Given the description of an element on the screen output the (x, y) to click on. 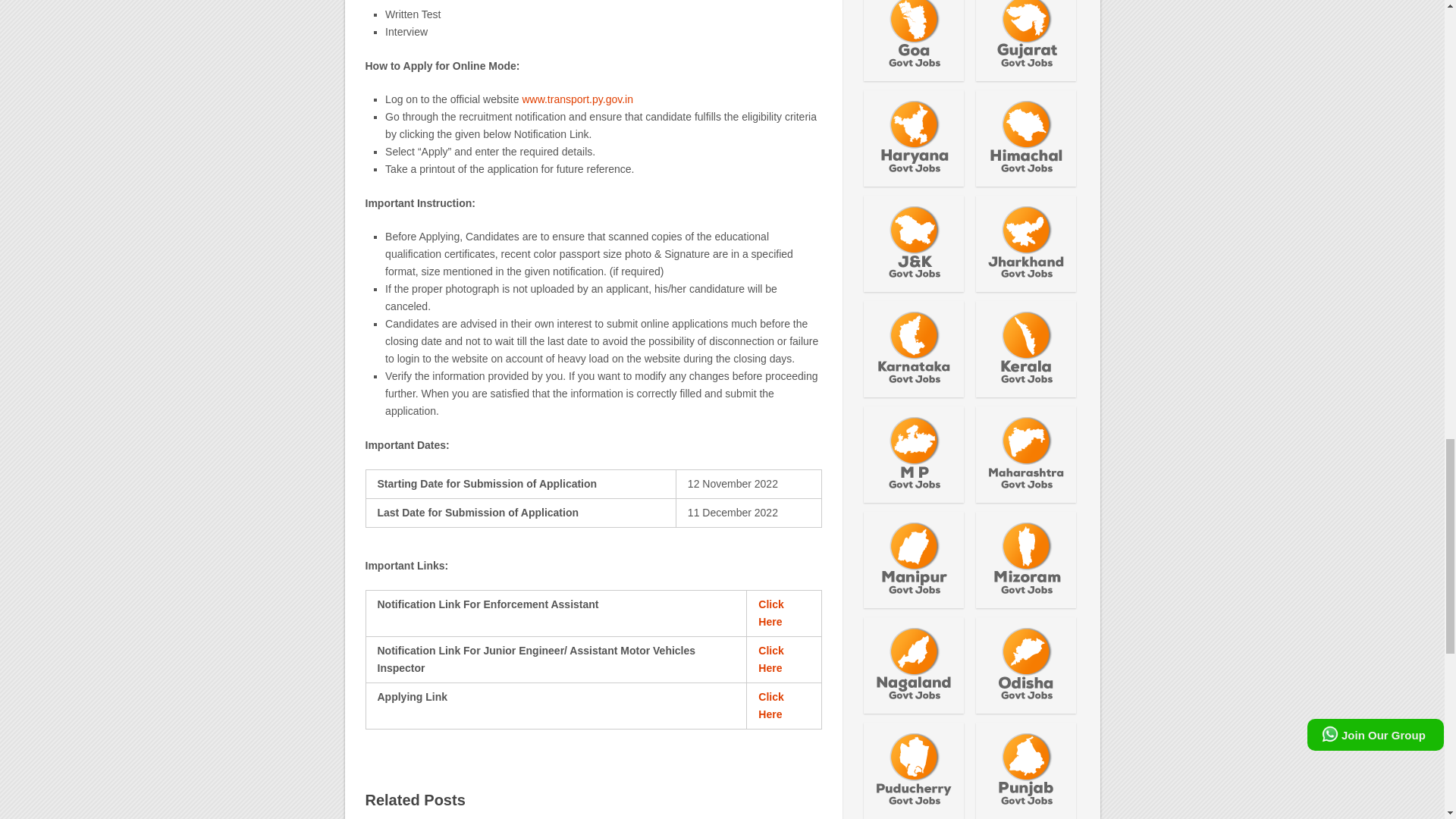
www.transport.py.gov.in (577, 99)
